Given the description of an element on the screen output the (x, y) to click on. 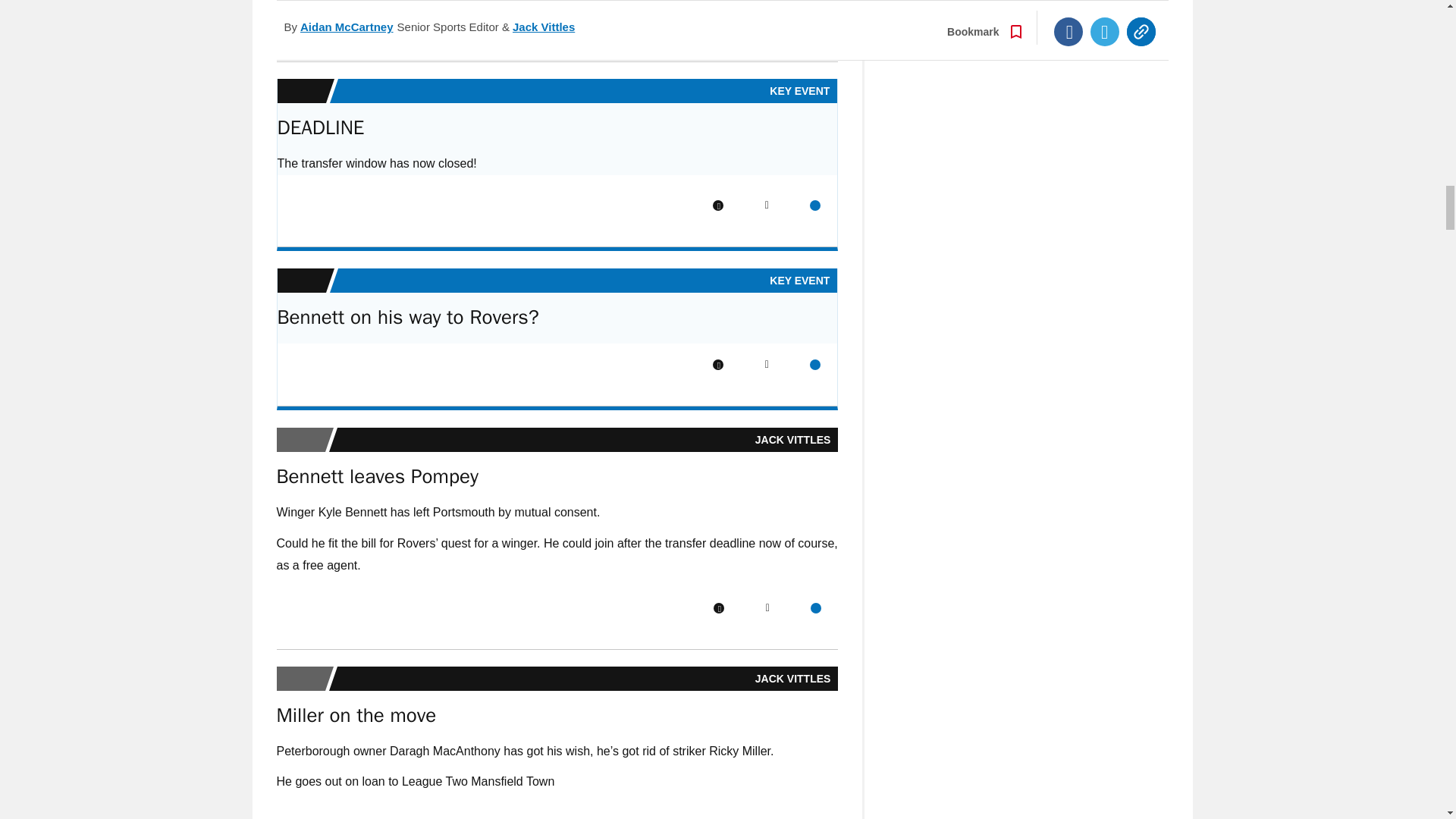
Facebook (718, 204)
Facebook (718, 20)
Twitter (766, 204)
Twitter (767, 20)
